Given the description of an element on the screen output the (x, y) to click on. 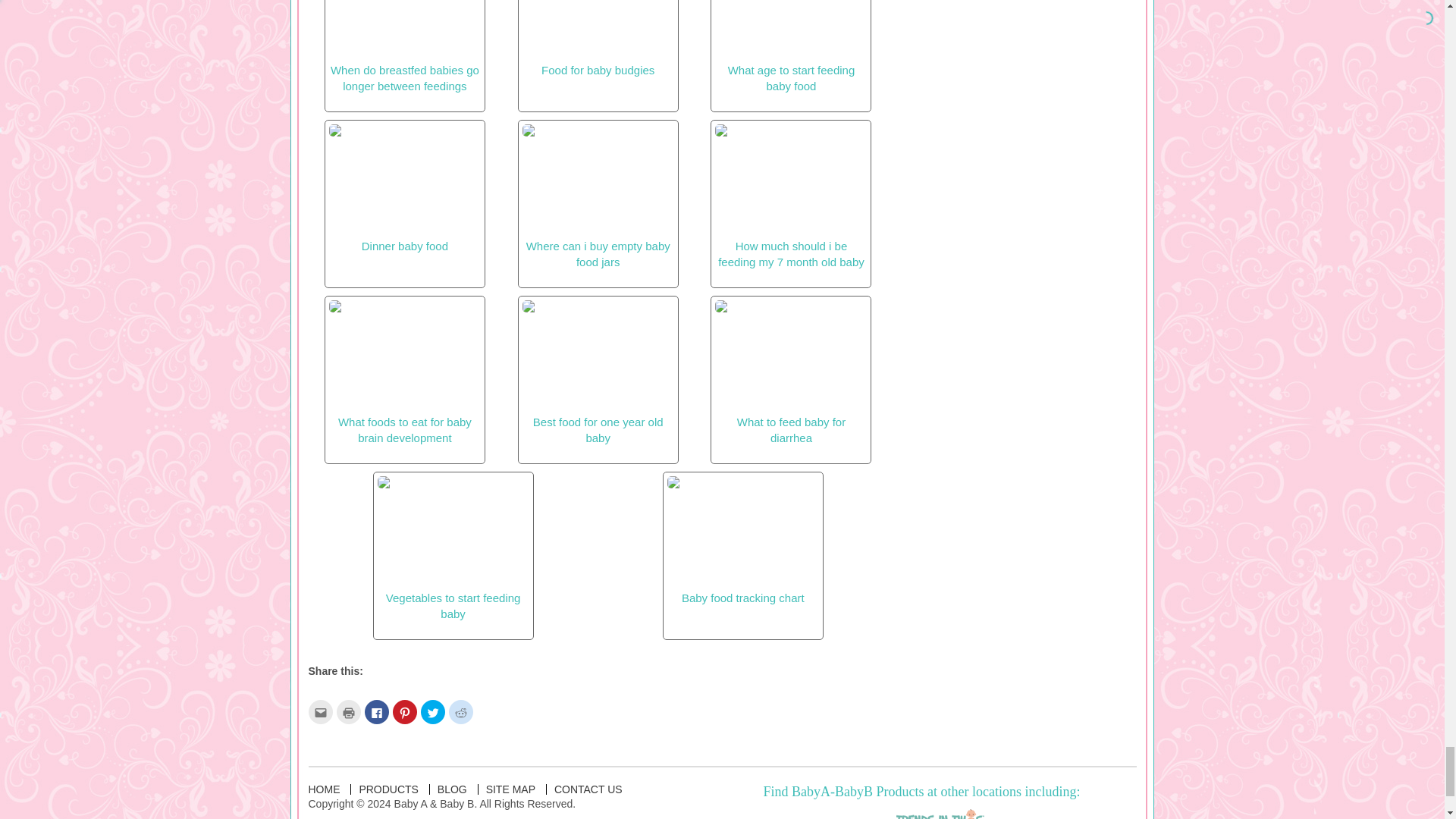
SITE MAP (510, 788)
How much should i be feeding my 7 month old baby (790, 196)
Best food for one year old baby (598, 372)
What age to start feeding baby food (790, 46)
Best food for one year old baby (598, 372)
Click to share on Twitter (432, 711)
BLOG (452, 788)
Click to email this to a friend (319, 711)
What foods to eat for baby brain development (404, 372)
Where can i buy empty baby food jars (598, 196)
Vegetables to start feeding baby (453, 547)
Dinner baby food (404, 188)
Click to share on Pinterest (404, 711)
Food for baby budgies (598, 38)
HOME (323, 788)
